Given the description of an element on the screen output the (x, y) to click on. 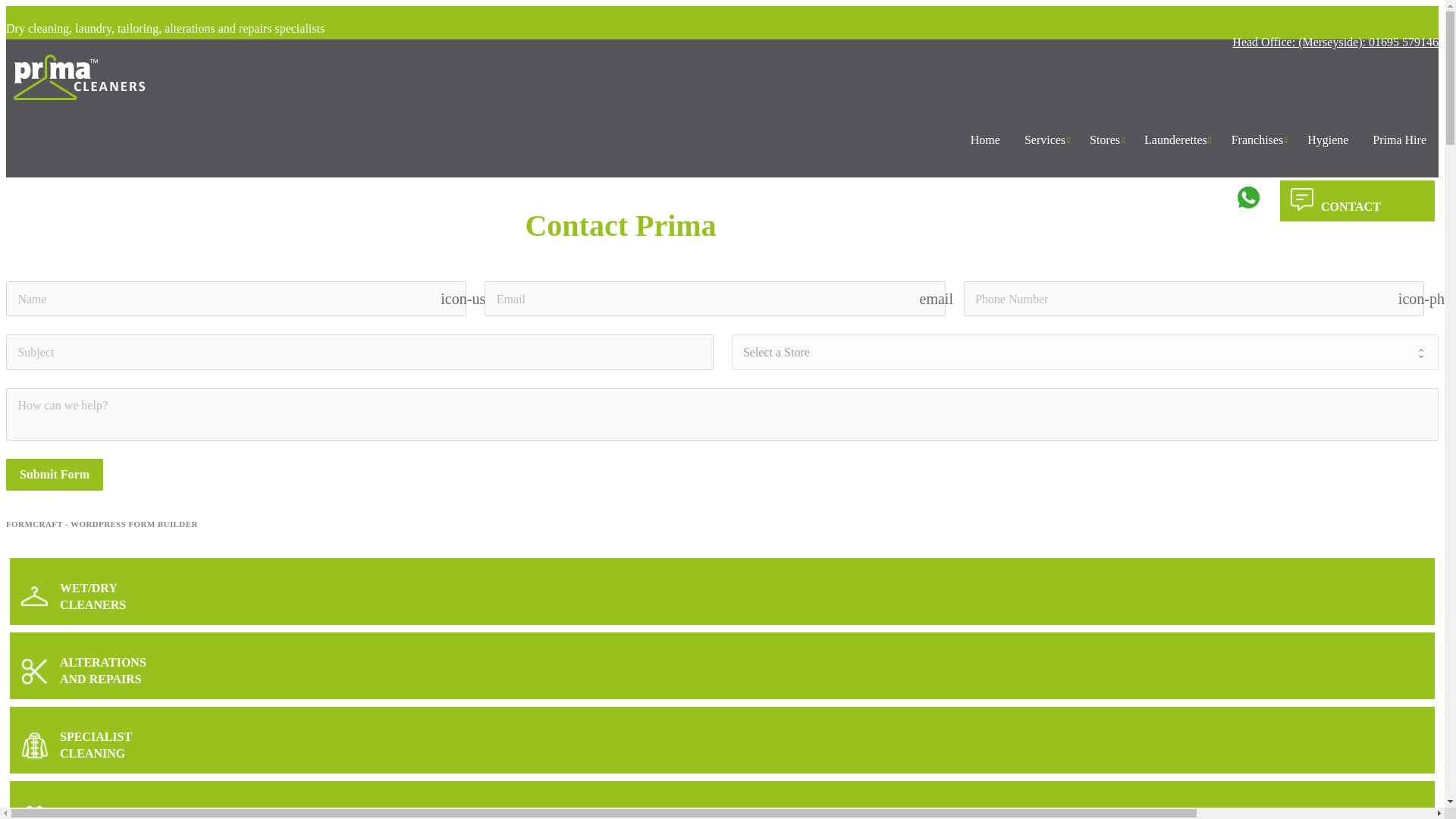
Home (984, 140)
Stores (1104, 140)
Services (1044, 140)
Launderettes (1176, 140)
